Given the description of an element on the screen output the (x, y) to click on. 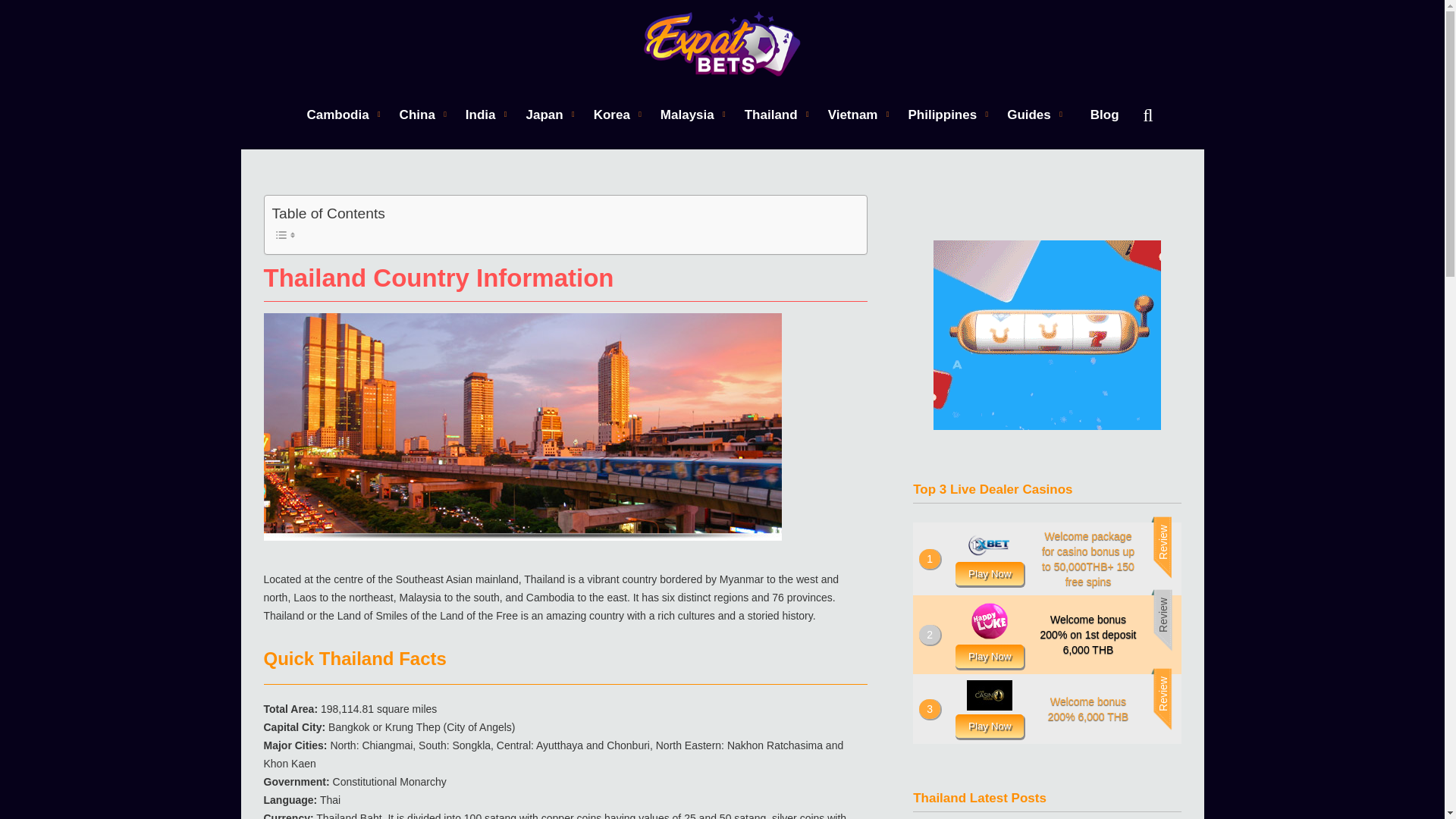
Expat Bets (721, 43)
Cambodia (336, 114)
1xbet (989, 573)
Livecasinohouse (989, 725)
happyluke (989, 655)
